Given the description of an element on the screen output the (x, y) to click on. 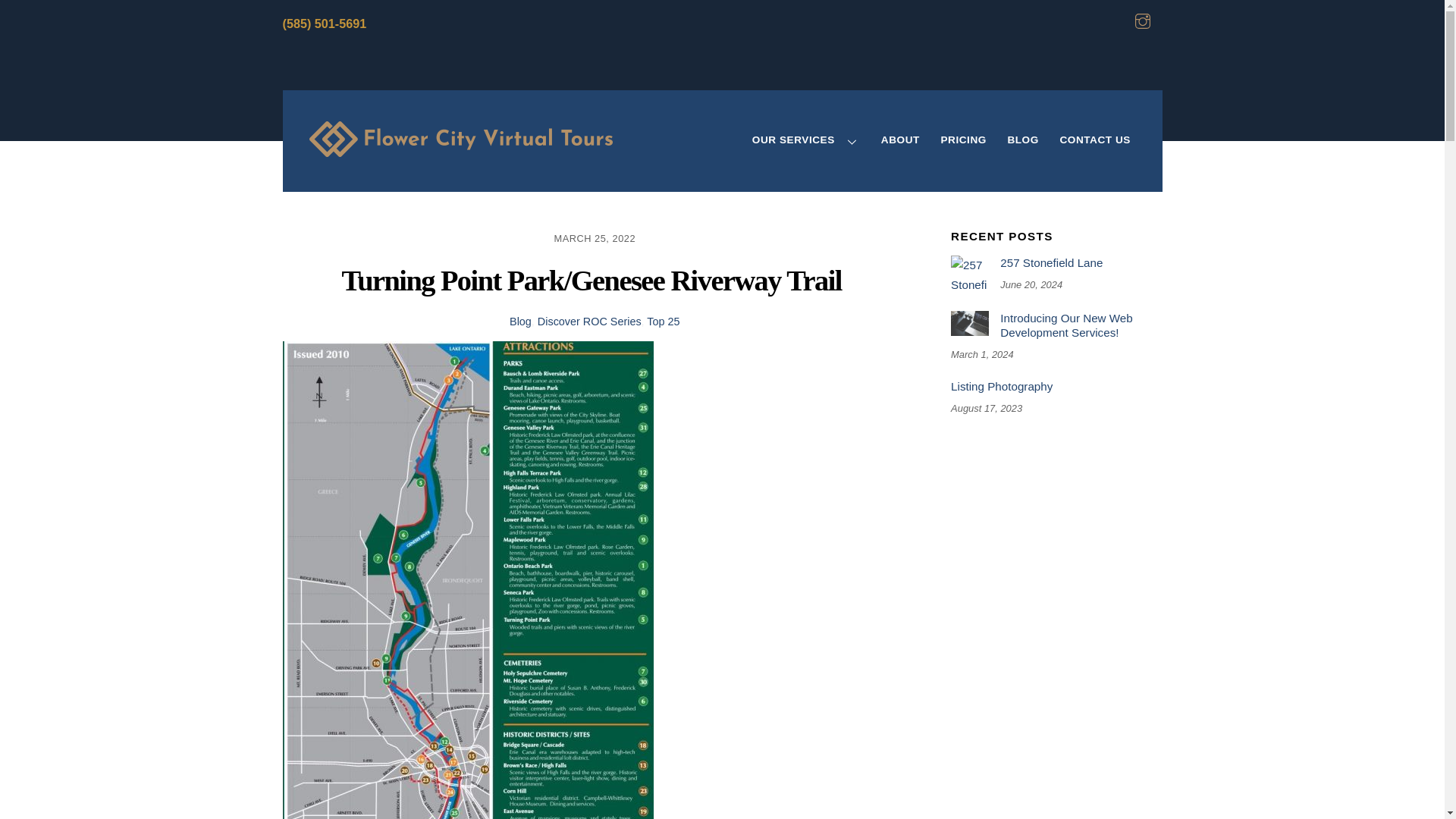
Blog (520, 321)
Discover ROC Series (589, 321)
ABOUT (900, 140)
PRICING (963, 140)
OUR SERVICES (805, 140)
Flower City Virtual Tours (460, 145)
257 Stonefield Lane (969, 274)
Top 25 (662, 321)
Introducing Our New Web Development Services! (969, 323)
